Given the description of an element on the screen output the (x, y) to click on. 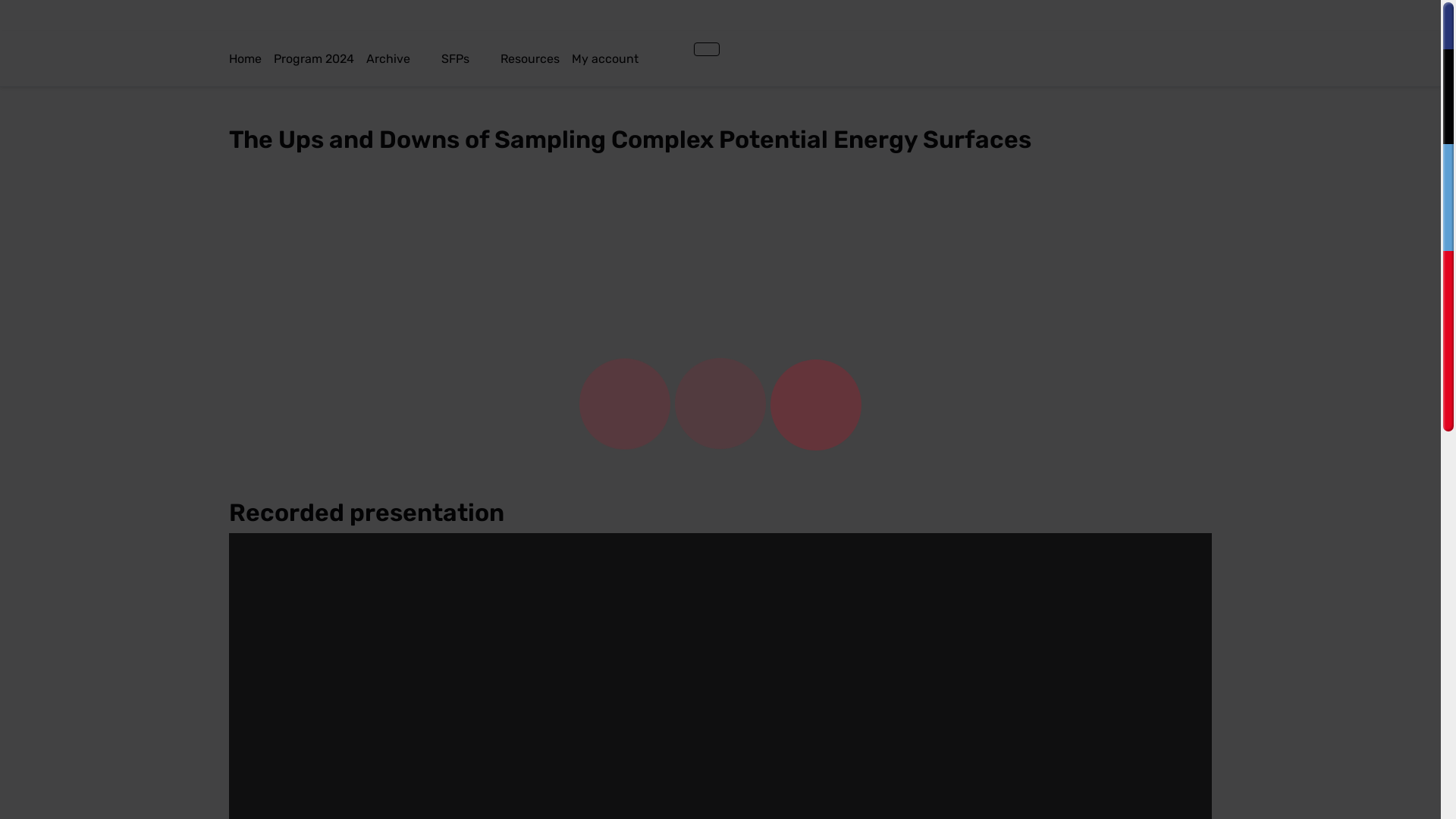
Search Element type: hover (687, 48)
Login Element type: hover (706, 49)
Resources Element type: text (535, 58)
Contact Element type: hover (675, 48)
SFPs Element type: text (470, 58)
Home Element type: text (251, 58)
Archive Element type: text (403, 58)
My account Element type: text (620, 58)
Program 2024 Element type: text (319, 58)
